Given the description of an element on the screen output the (x, y) to click on. 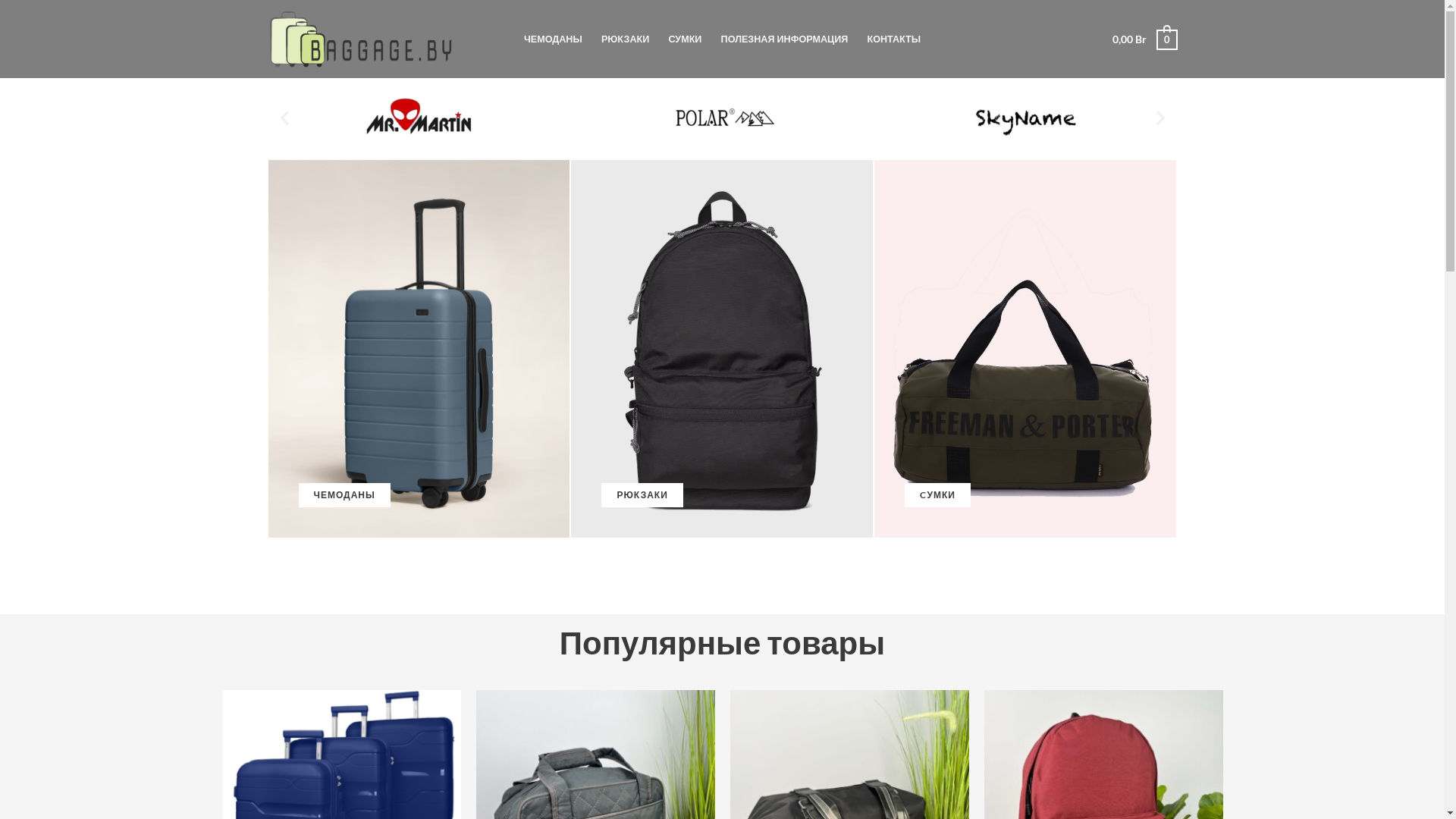
0,00 Br
0 Element type: text (1143, 39)
